Given the description of an element on the screen output the (x, y) to click on. 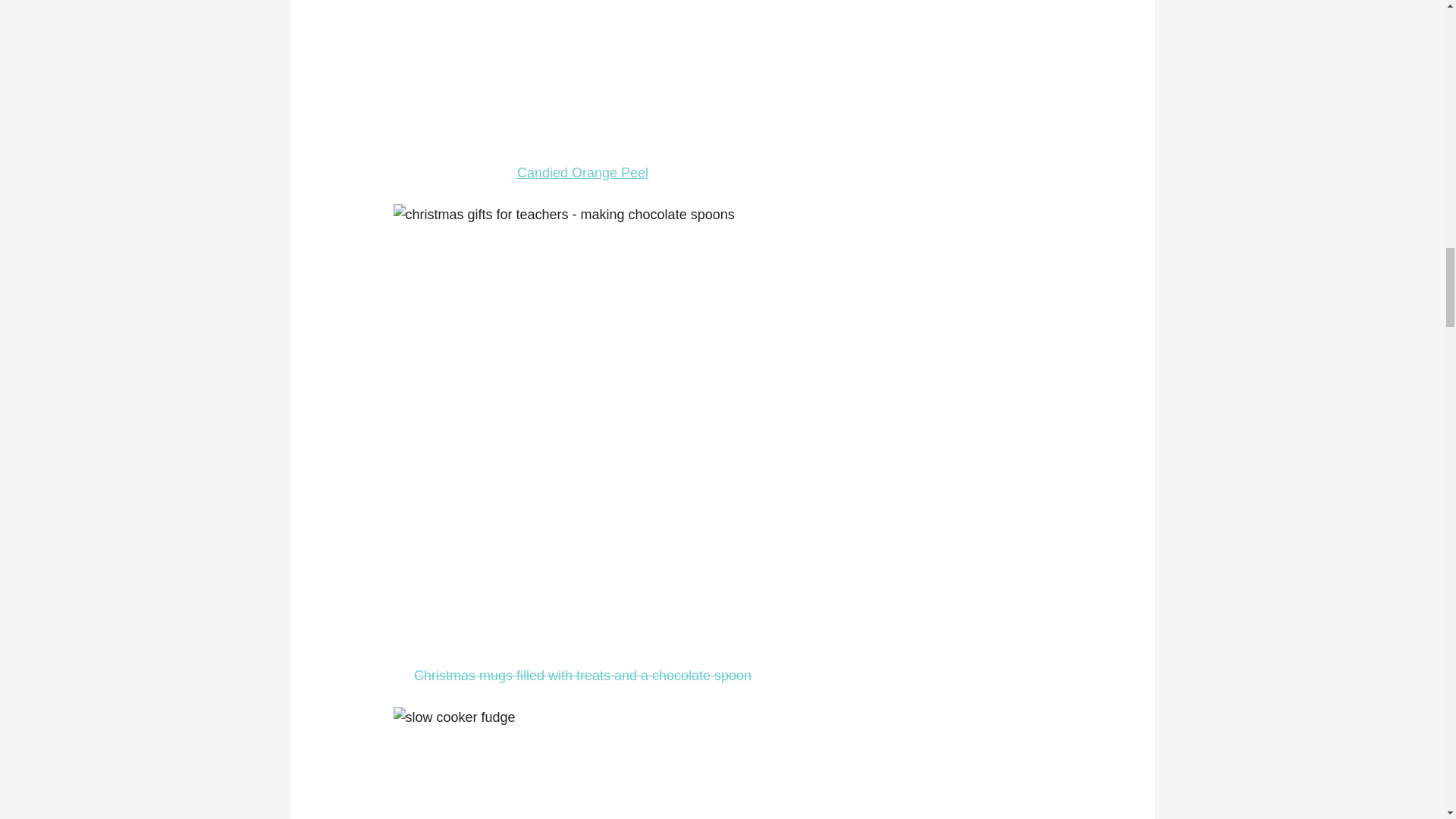
Christmas mugs filled with treats and a chocolate spoon (582, 675)
Candied Orange Peel (581, 172)
